Given the description of an element on the screen output the (x, y) to click on. 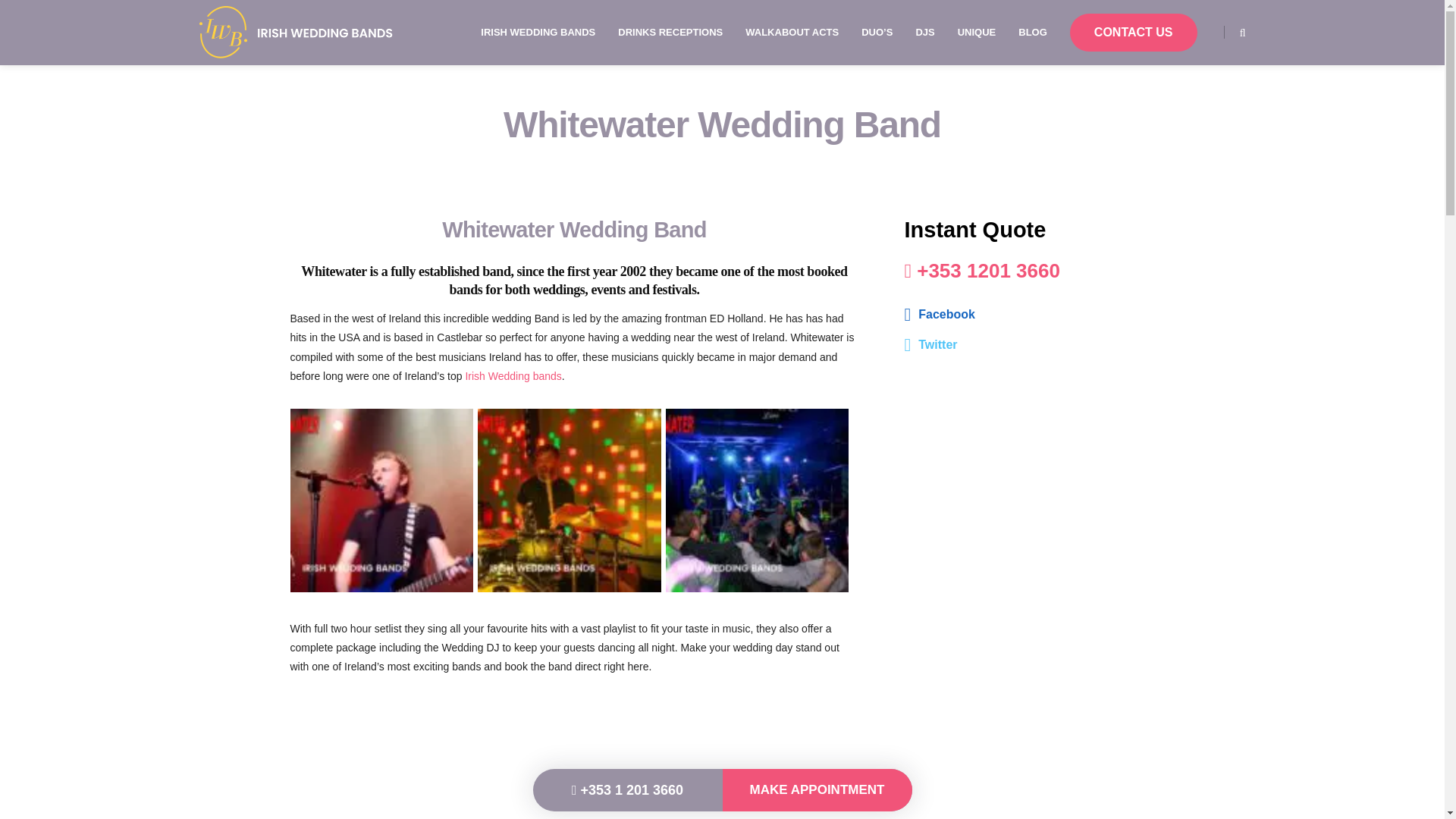
CONTACT US (1133, 32)
Twitter (1029, 345)
Whitewater Wedding Band (381, 500)
Whitewater Wedding Band (756, 500)
Whitewater Wedding Band (569, 500)
Facebook (1029, 314)
IRISH WEDDING BANDS (537, 32)
Irish Wedding bands (512, 376)
DRINKS RECEPTIONS (669, 32)
WALKABOUT ACTS (791, 32)
